Given the description of an element on the screen output the (x, y) to click on. 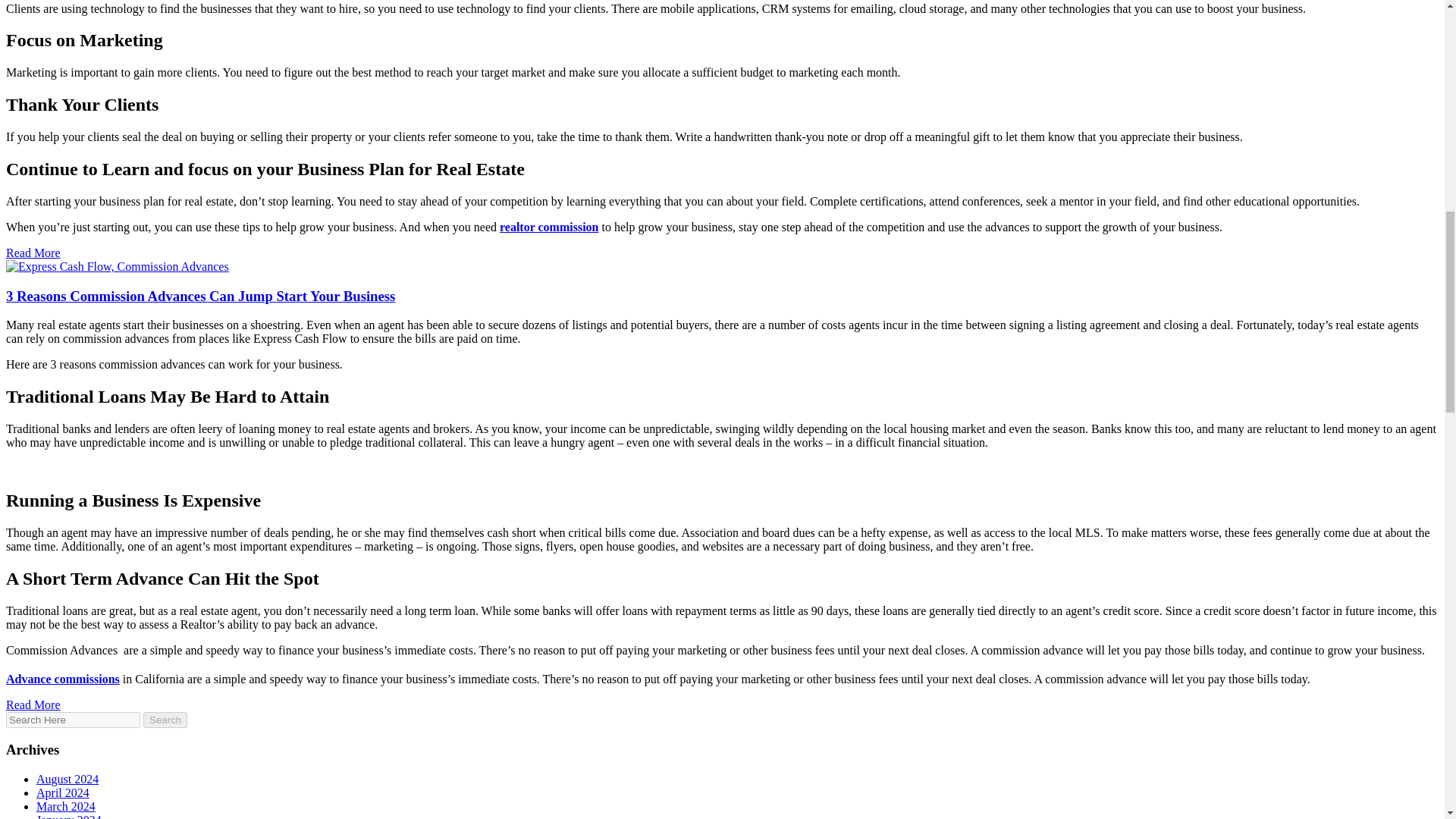
March 2024 (66, 806)
Read More (33, 704)
realtor commission (548, 226)
April 2024 (62, 792)
Search (164, 719)
January 2024 (68, 816)
Search (164, 719)
3 Reasons Commission Advances Can Jump Start Your Business (199, 295)
Read More (33, 252)
August 2024 (67, 779)
